Given the description of an element on the screen output the (x, y) to click on. 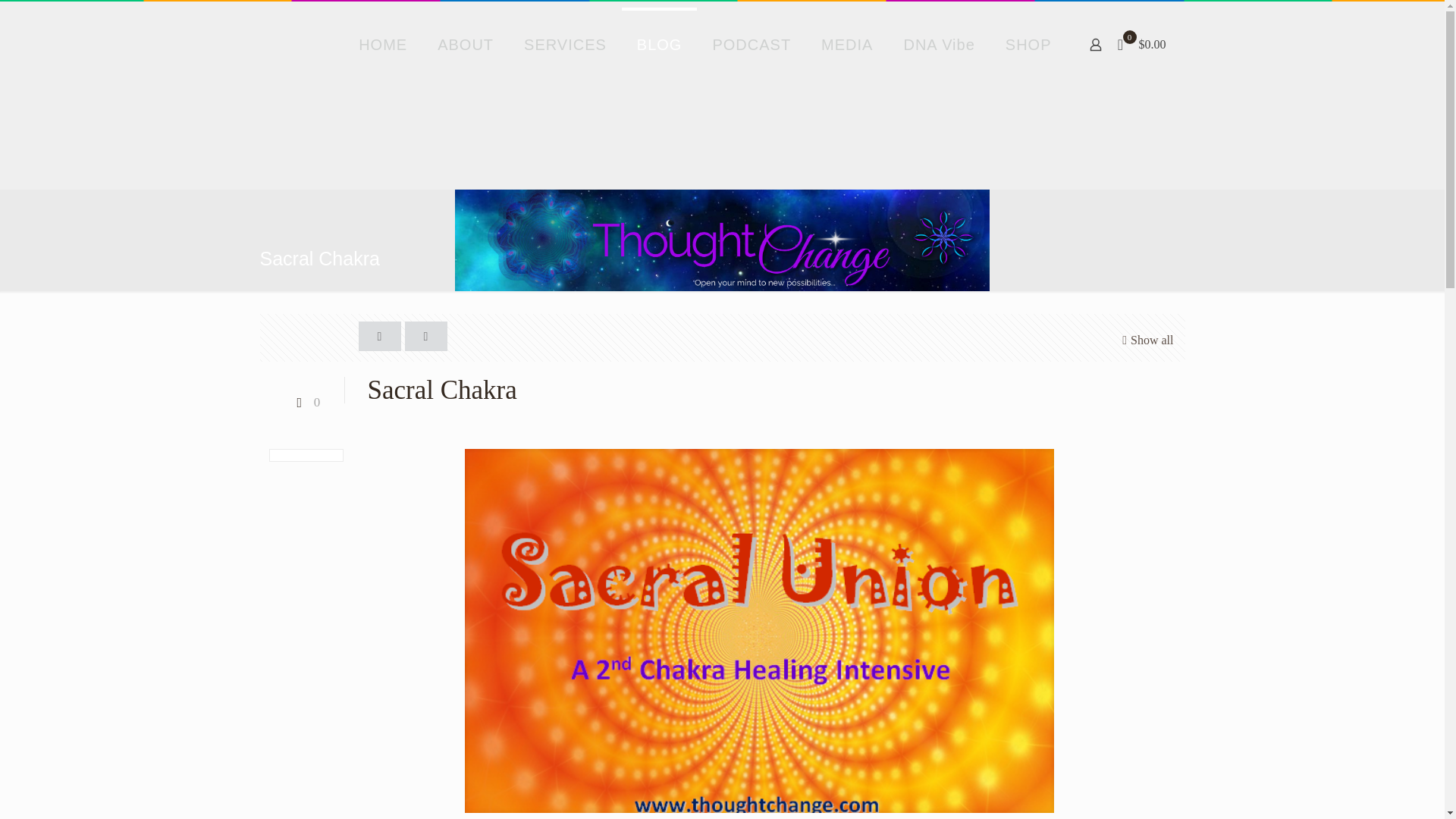
ABOUT (465, 44)
HOME (382, 44)
PODCAST (751, 44)
SERVICES (564, 44)
DNA Vibe (939, 44)
BLOG (659, 44)
MEDIA (847, 44)
SHOP (1028, 44)
